Given the description of an element on the screen output the (x, y) to click on. 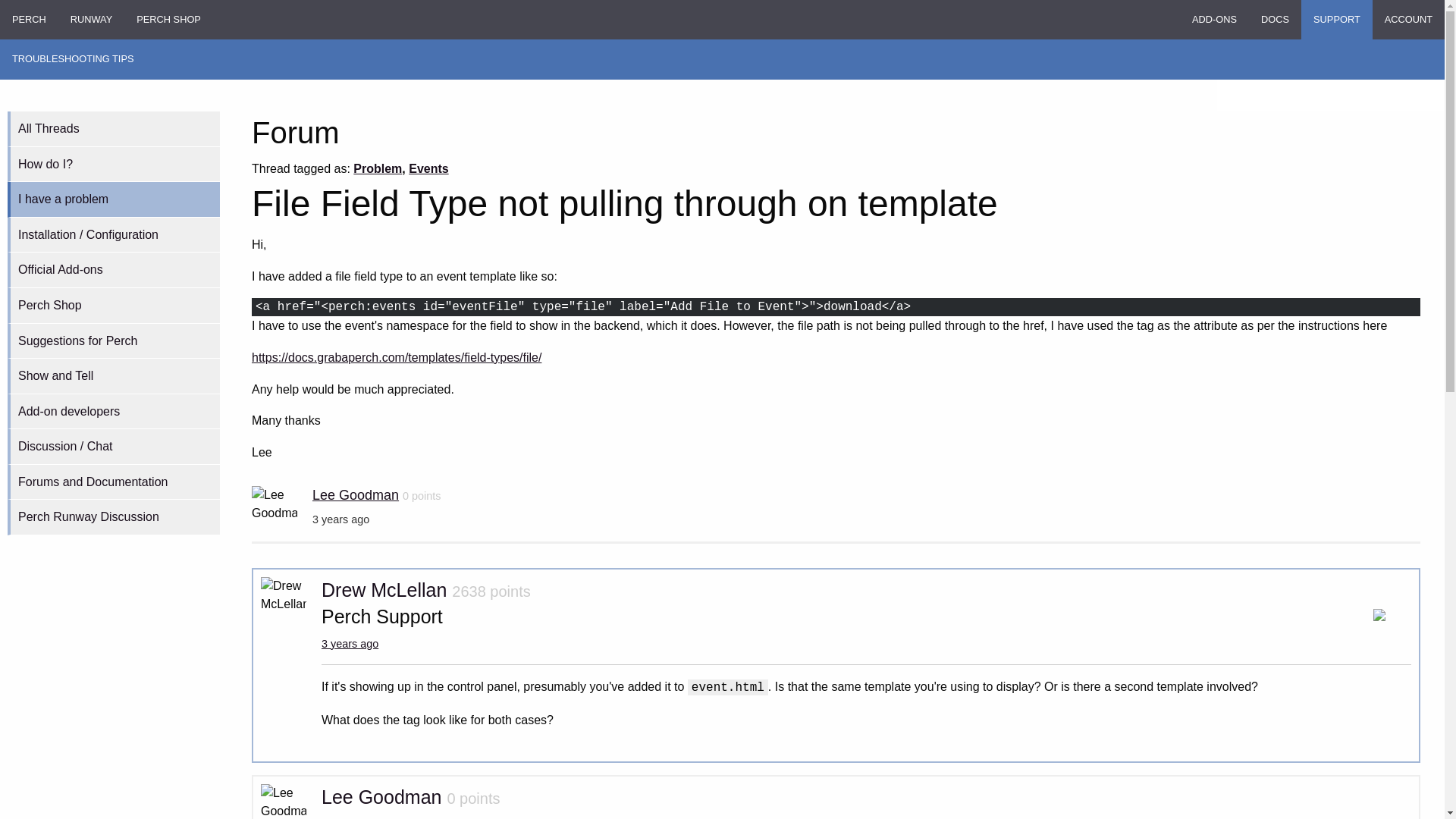
Official Add-ons (113, 270)
DOCS (1275, 19)
Lee Goodman (355, 494)
Forums and Documentation (113, 482)
All Threads (113, 129)
SUPPORT (1337, 19)
Drew McLellan (383, 589)
Lee Goodman (381, 796)
Events (428, 168)
I have a problem (113, 199)
3 years ago (349, 644)
3 years ago (349, 818)
ADD-ONS (1214, 19)
Add-on developers (113, 411)
Perch Shop (113, 305)
